Given the description of an element on the screen output the (x, y) to click on. 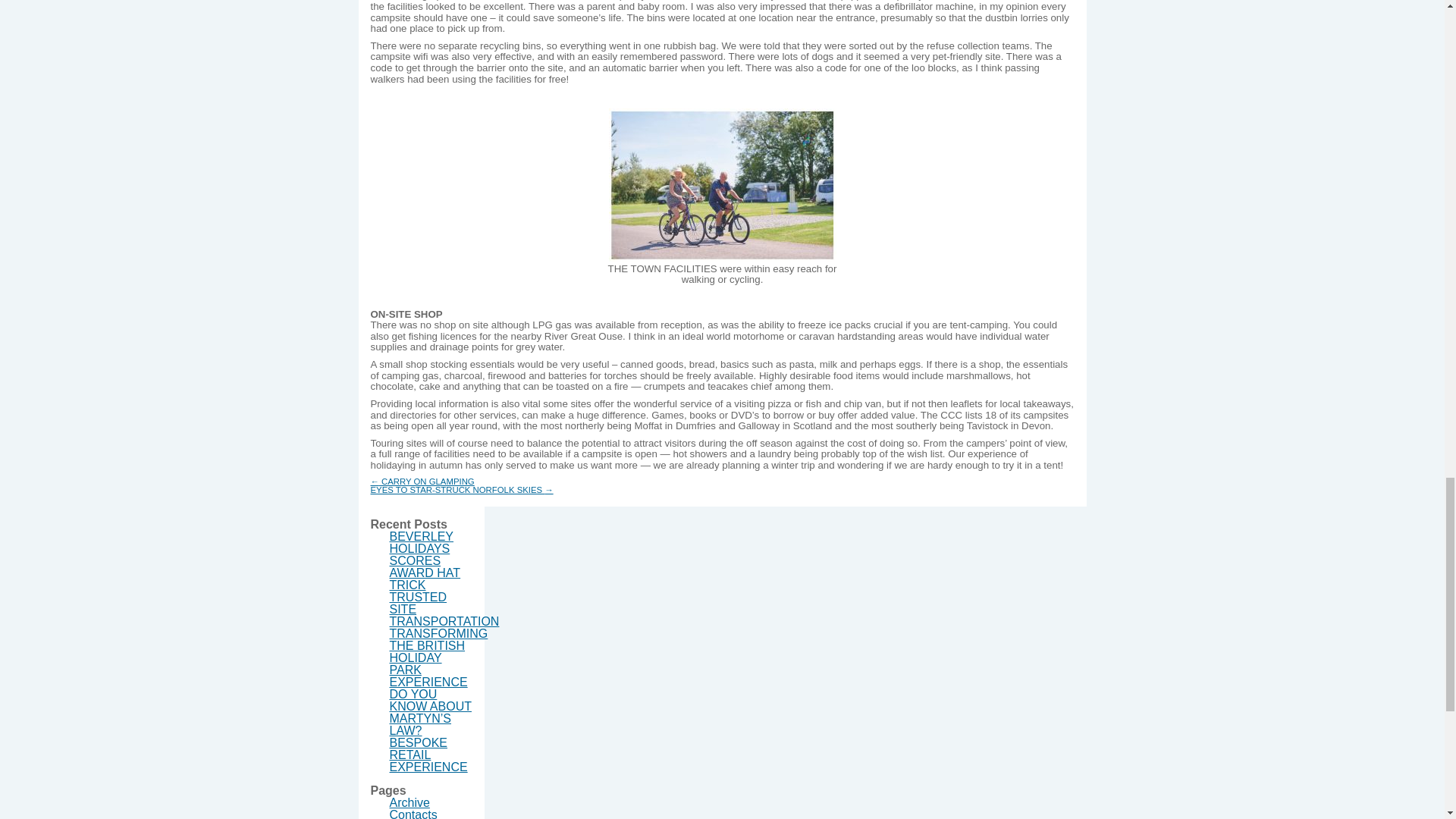
Contacts (414, 813)
Archive (409, 802)
BESPOKE RETAIL EXPERIENCE (428, 754)
TRANSFORMING THE BRITISH HOLIDAY PARK EXPERIENCE (438, 657)
TRUSTED SITE TRANSPORTATION (444, 609)
BEVERLEY HOLIDAYS SCORES AWARD HAT TRICK (425, 560)
